Given the description of an element on the screen output the (x, y) to click on. 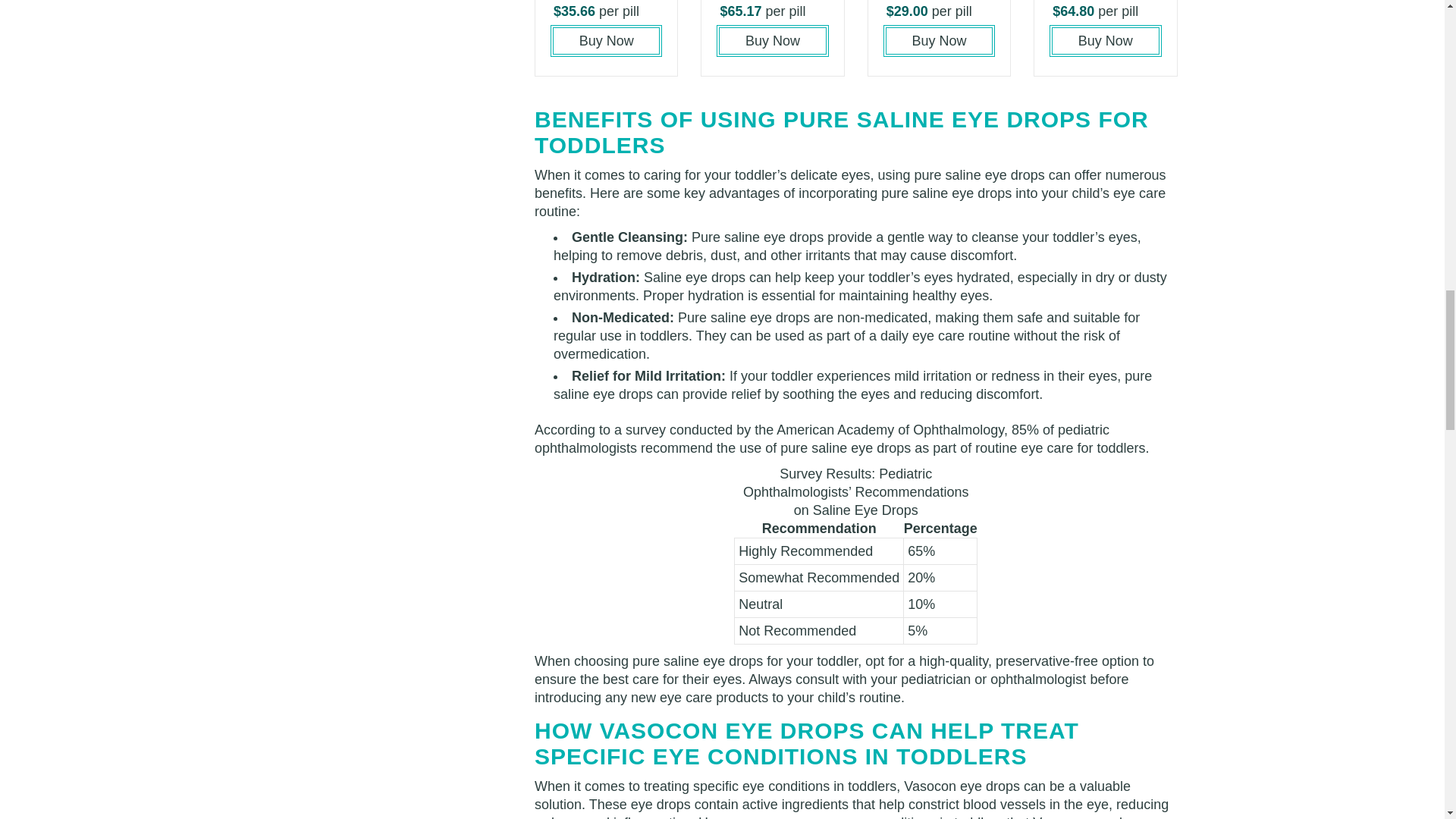
Buy Now (606, 40)
Buy Now (938, 40)
Buy Now (1104, 40)
Buy Now (772, 40)
